Given the description of an element on the screen output the (x, y) to click on. 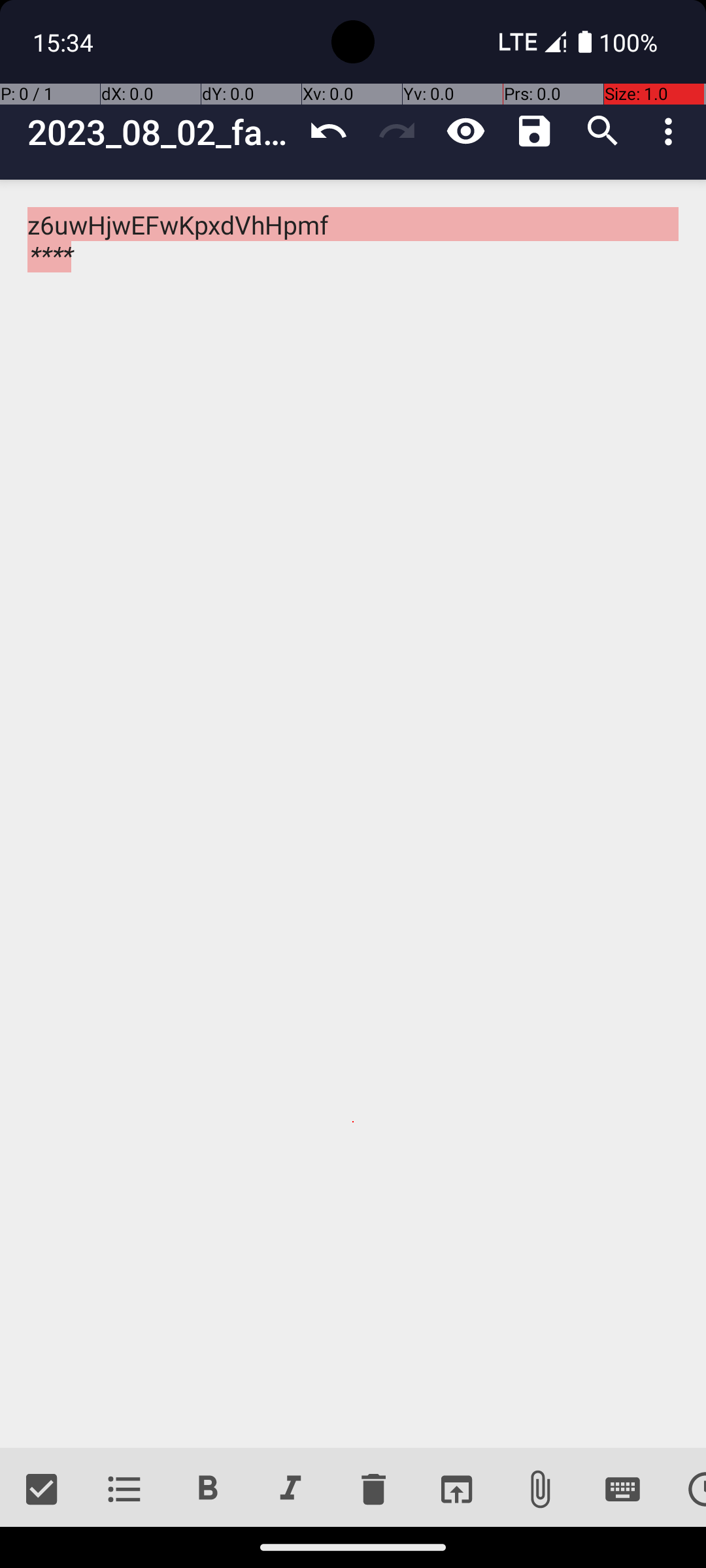
2023_08_02_favorite_book_quotes Element type: android.widget.TextView (160, 131)
z6uwHjwEFwKpxdVhHpmf
**** Element type: android.widget.EditText (353, 813)
